Given the description of an element on the screen output the (x, y) to click on. 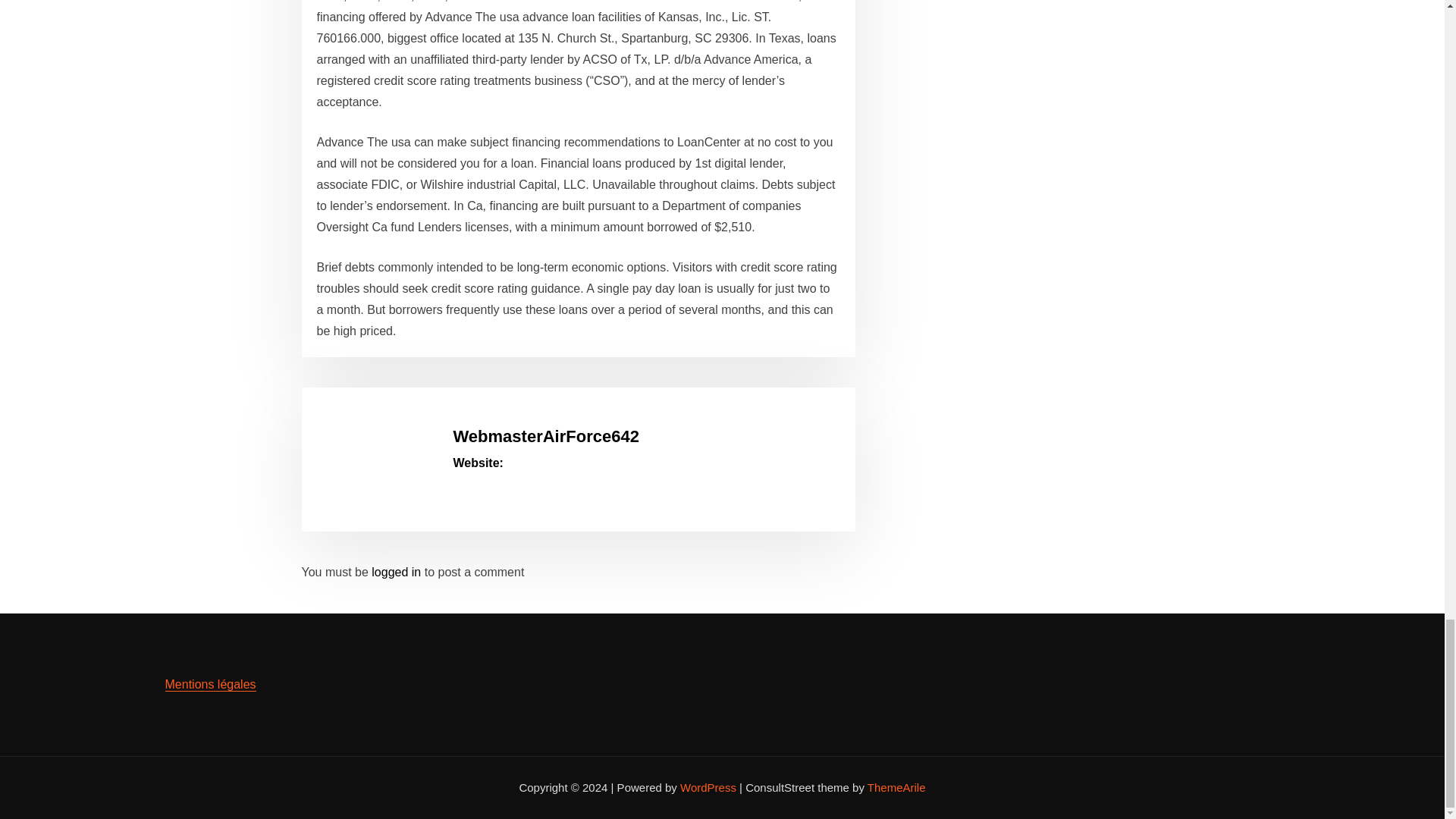
WordPress (707, 787)
ThemeArile (896, 787)
logged in (395, 571)
